Given the description of an element on the screen output the (x, y) to click on. 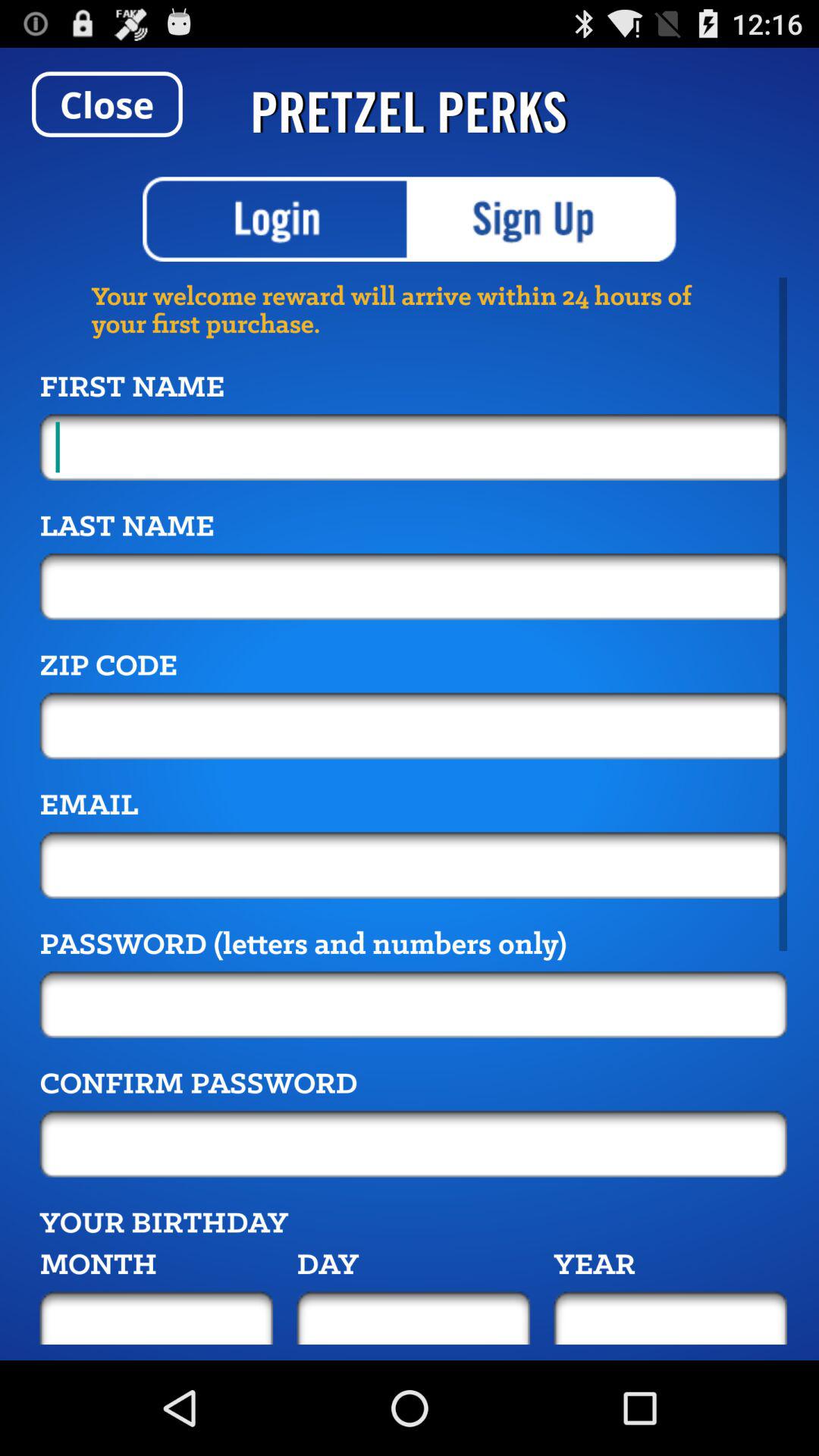
scroll to close (106, 104)
